Given the description of an element on the screen output the (x, y) to click on. 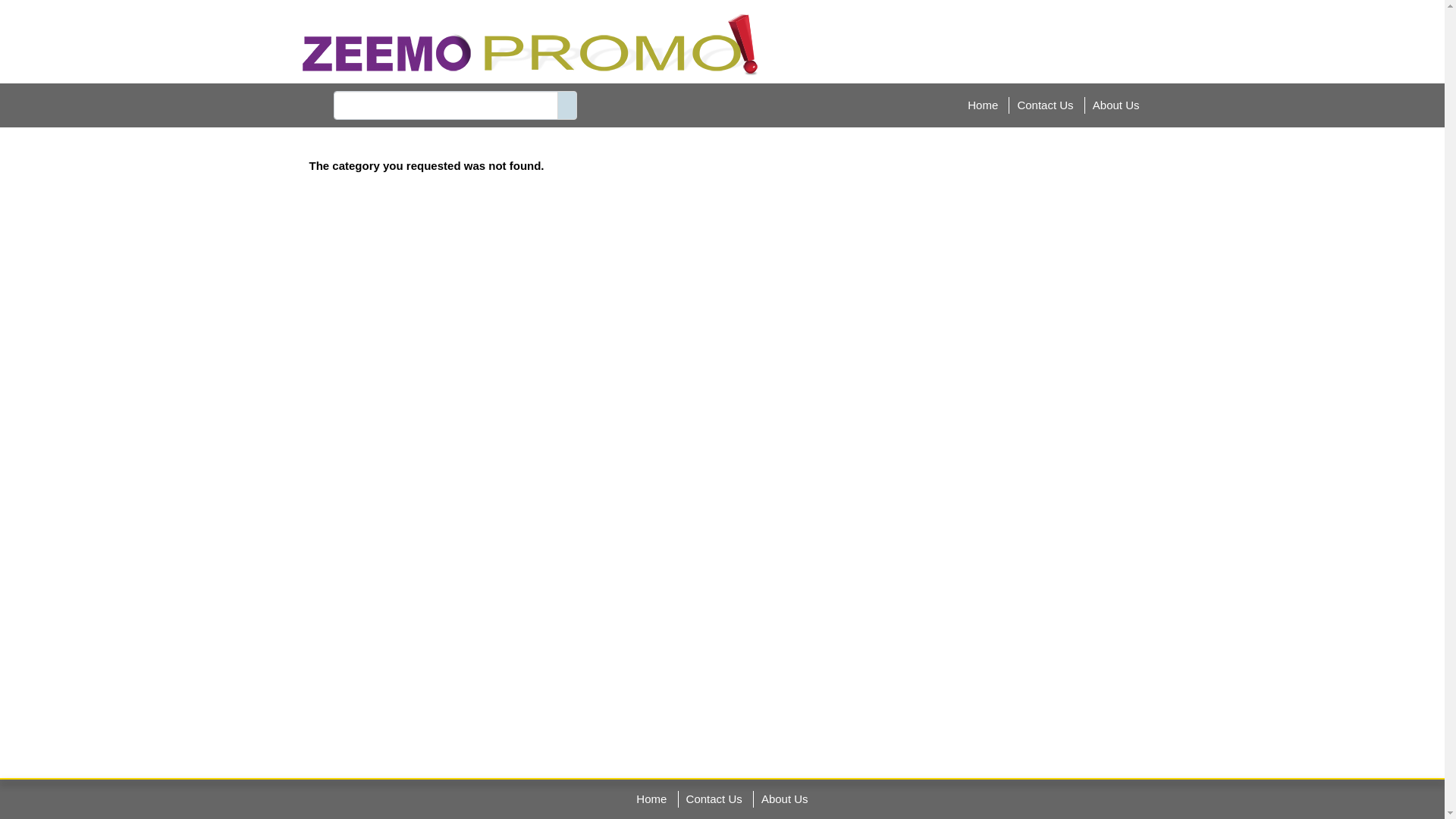
About Us Element type: text (1115, 104)
Contact Us Element type: text (714, 797)
About Us Element type: text (784, 797)
Contact Us Element type: text (1044, 104)
Home Element type: text (982, 104)
Home Element type: text (651, 797)
